Given the description of an element on the screen output the (x, y) to click on. 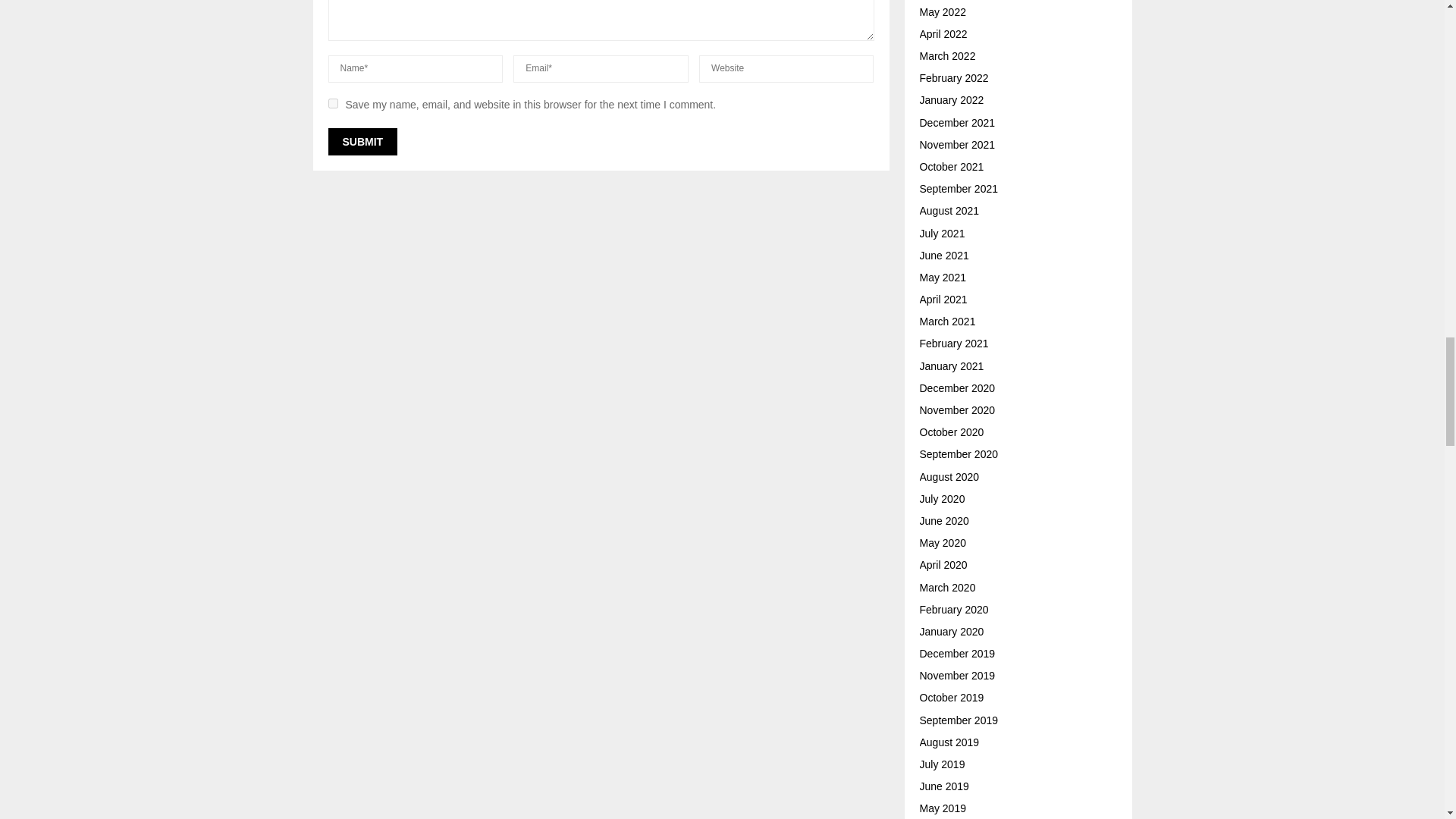
Submit (362, 141)
yes (332, 103)
